Given the description of an element on the screen output the (x, y) to click on. 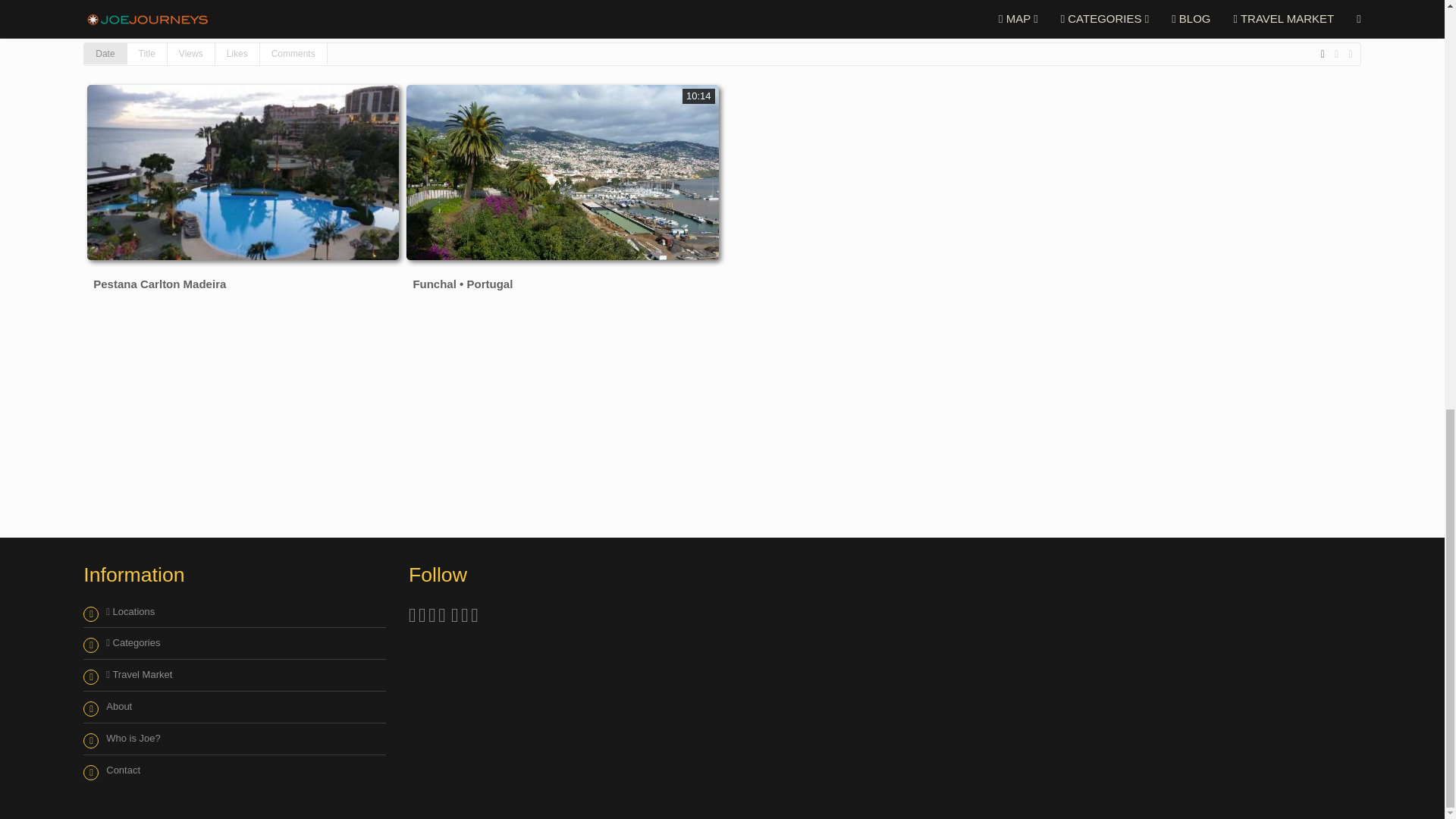
Title (146, 53)
Europe (122, 2)
Date (105, 53)
Madeira (296, 2)
Pestana Carlton Madeira (159, 283)
Portugal (209, 2)
